Given the description of an element on the screen output the (x, y) to click on. 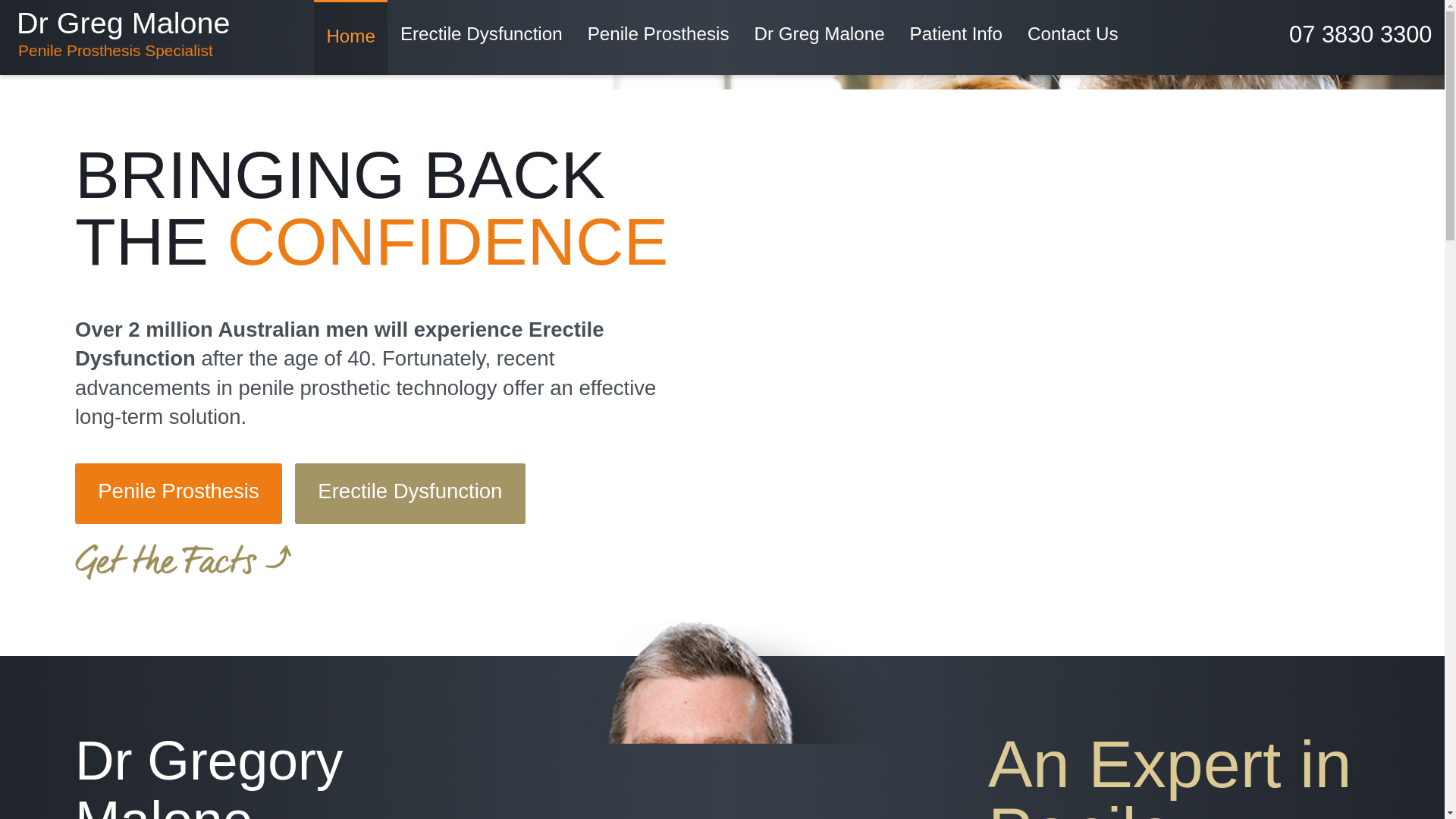
Penile Prosthesis (658, 37)
Home (351, 38)
07 3830 3300 (1359, 34)
Dr Greg Malone (123, 33)
Dr Greg Malone (818, 37)
Penile Prosthesis (123, 33)
Contact Us (178, 493)
Erectile Dysfunction (1072, 37)
Patient Info (481, 37)
